Given the description of an element on the screen output the (x, y) to click on. 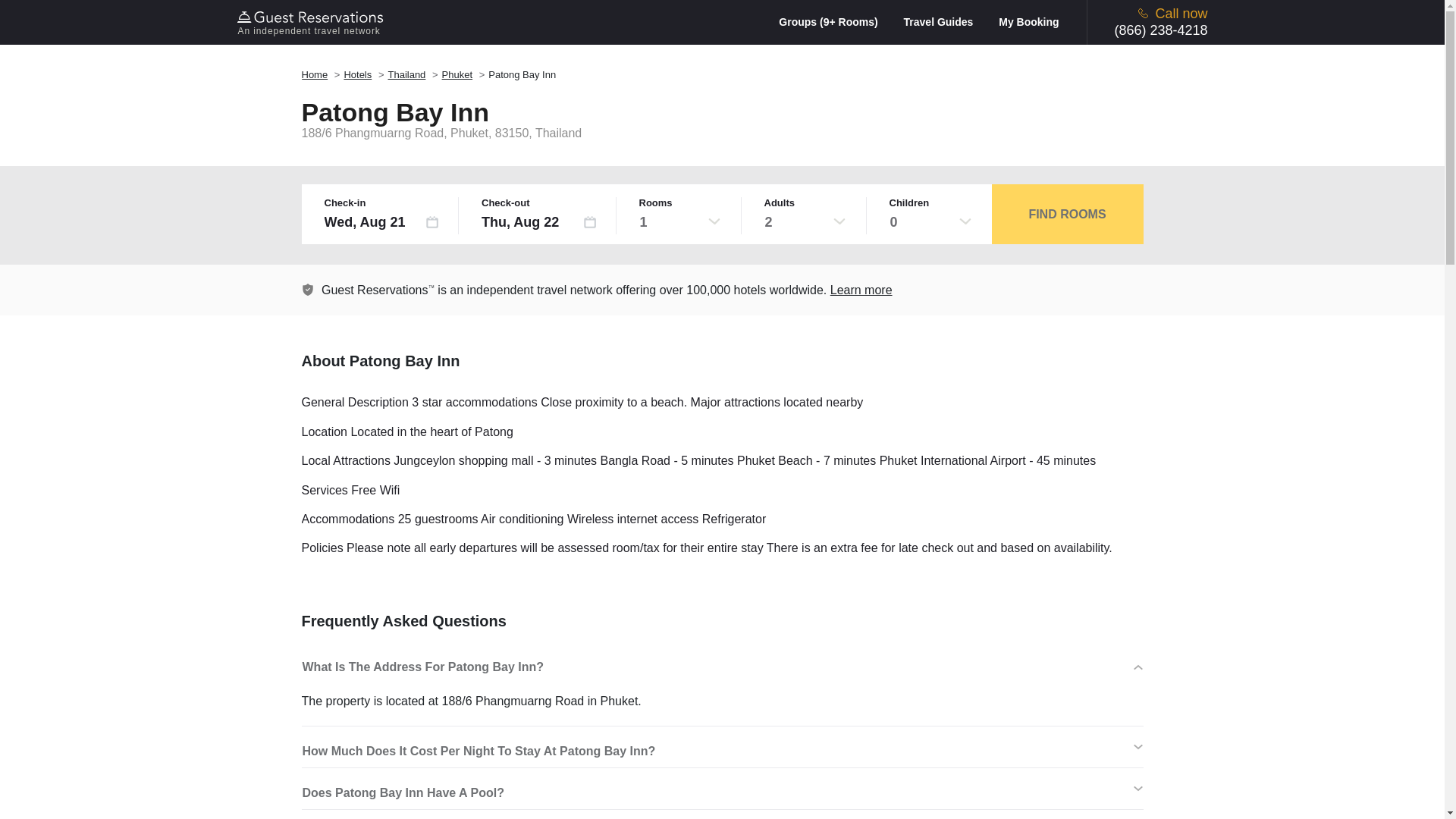
0 (930, 221)
Phuket (456, 74)
Learn more (307, 289)
Home (315, 74)
Wed, Aug 21 (381, 221)
2 (805, 221)
An independent travel network (311, 22)
Guest Reservations - Logo (311, 16)
Thailand (406, 74)
My Booking (1028, 21)
